Given the description of an element on the screen output the (x, y) to click on. 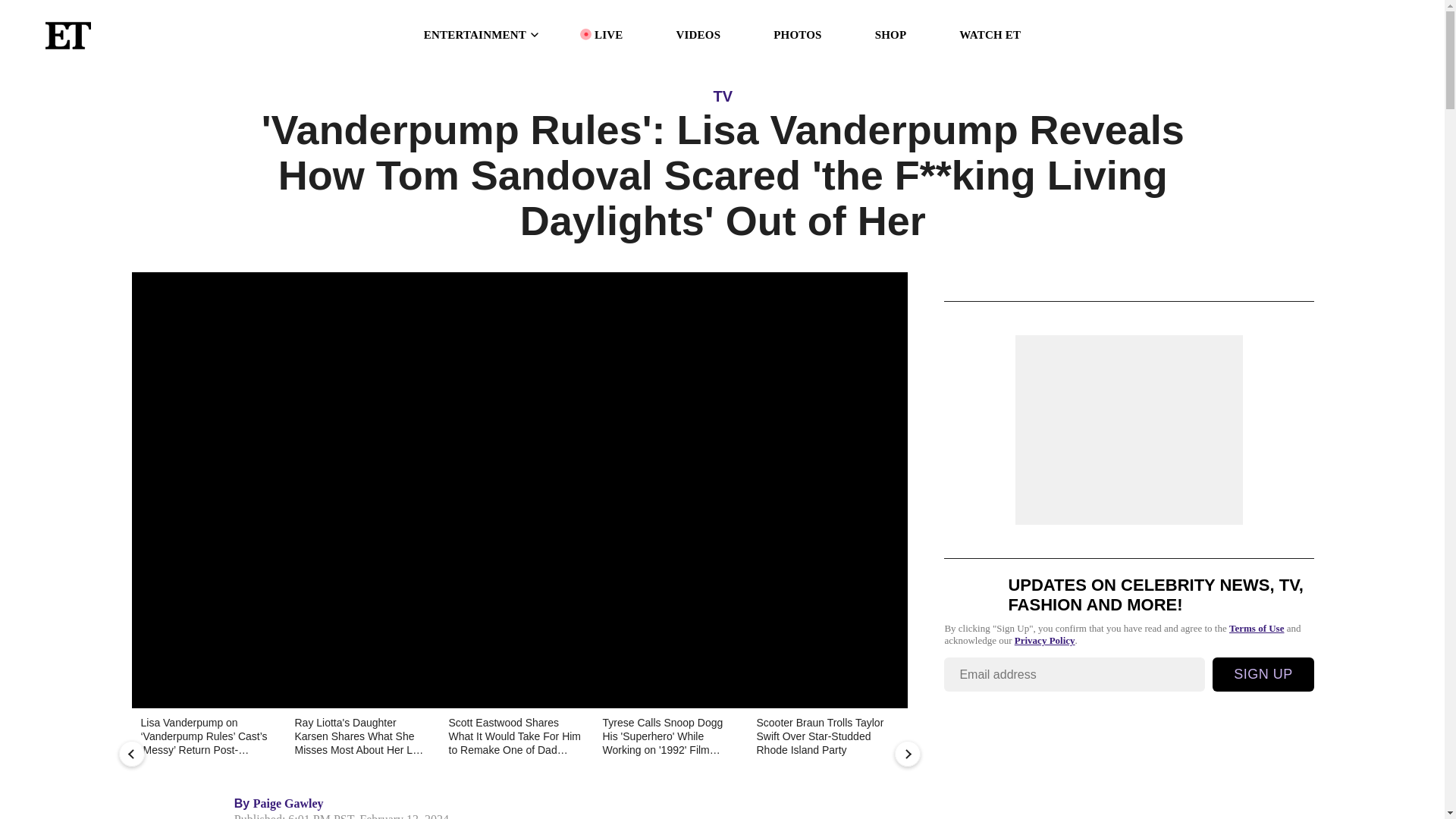
TV (722, 95)
WATCH ET (989, 34)
PHOTOS (797, 34)
ENTERTAINMENT (482, 34)
LIVE (608, 34)
SHOP (891, 34)
VIDEOS (697, 34)
